Given the description of an element on the screen output the (x, y) to click on. 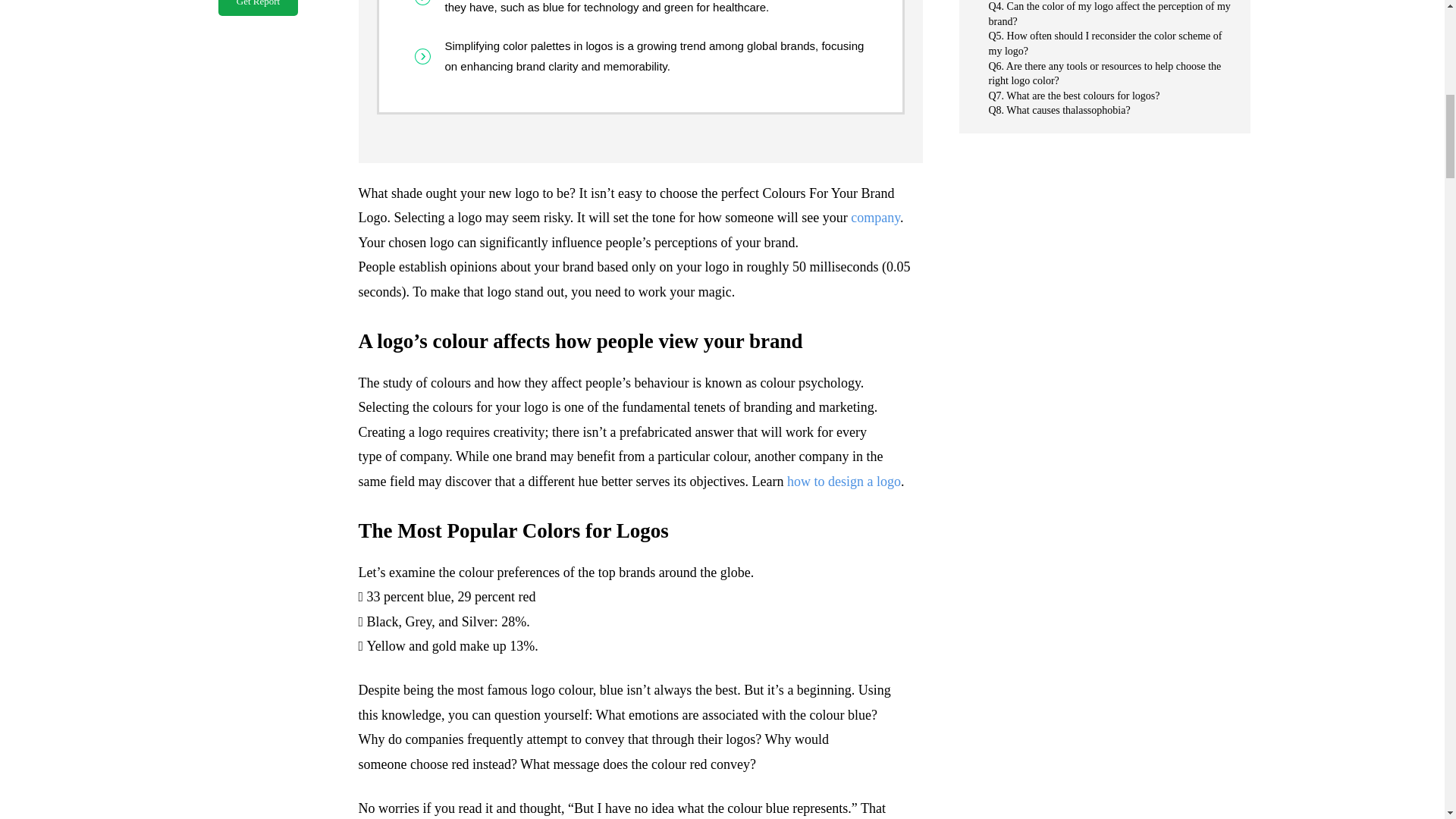
Get Report (258, 7)
Get Report (258, 7)
company (874, 217)
how to design a logo (844, 481)
